Given the description of an element on the screen output the (x, y) to click on. 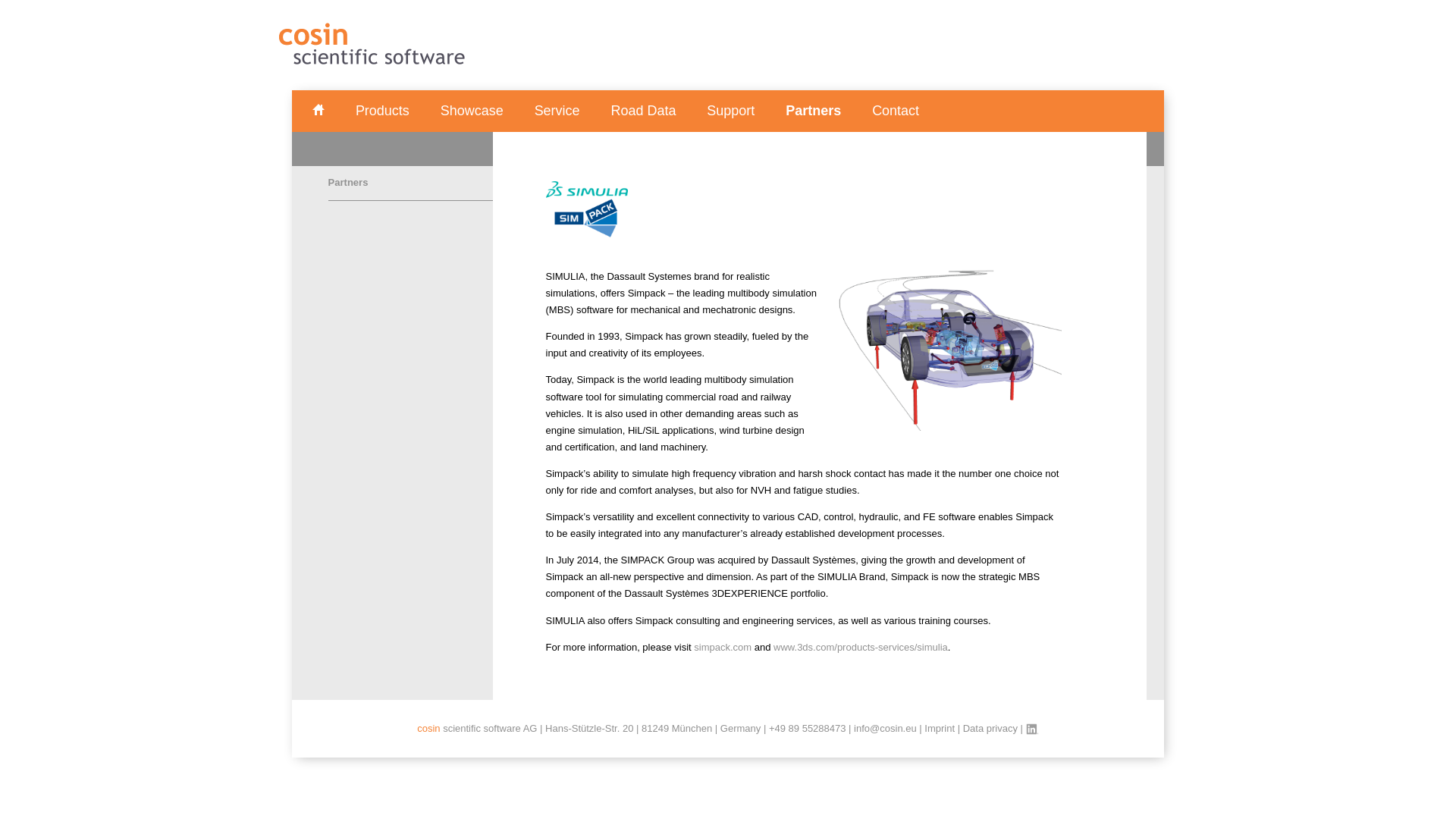
simpack.com (722, 646)
Support (730, 110)
Road Data (642, 110)
Data privacy (989, 727)
Contact (895, 110)
Partners (813, 110)
Showcase (472, 110)
Products (382, 110)
Imprint (939, 727)
Service (556, 110)
